Given the description of an element on the screen output the (x, y) to click on. 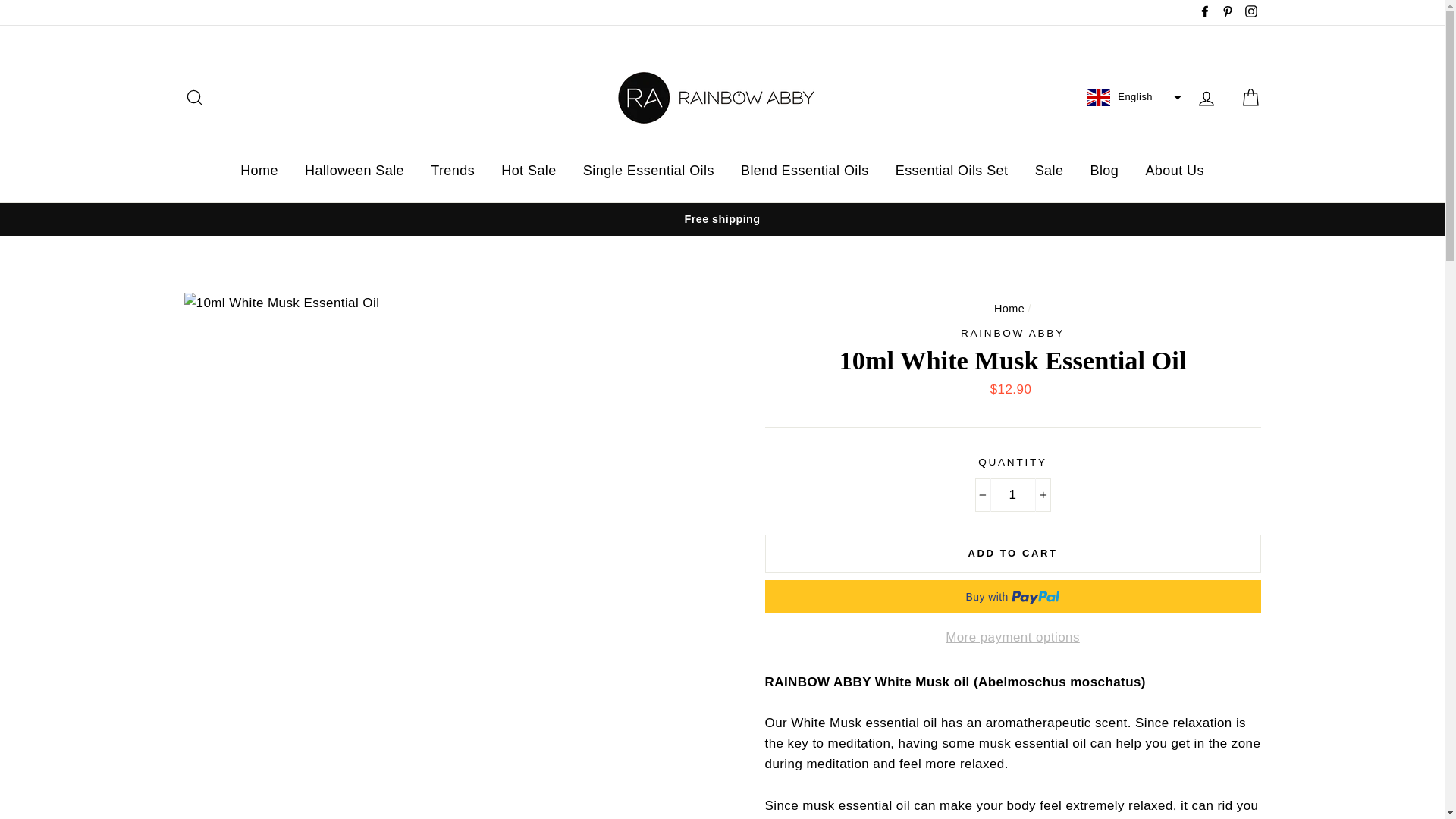
Home (258, 170)
About Us (1174, 170)
Home (1009, 308)
Essential Oils Set (951, 170)
Log in (1205, 96)
Back to the frontpage (1009, 308)
Halloween Sale (354, 170)
Cart (1249, 96)
Sale (1049, 170)
Trends (452, 170)
1 (1013, 494)
Search (194, 96)
Single Essential Oils (648, 170)
Blog (1104, 170)
